Given the description of an element on the screen output the (x, y) to click on. 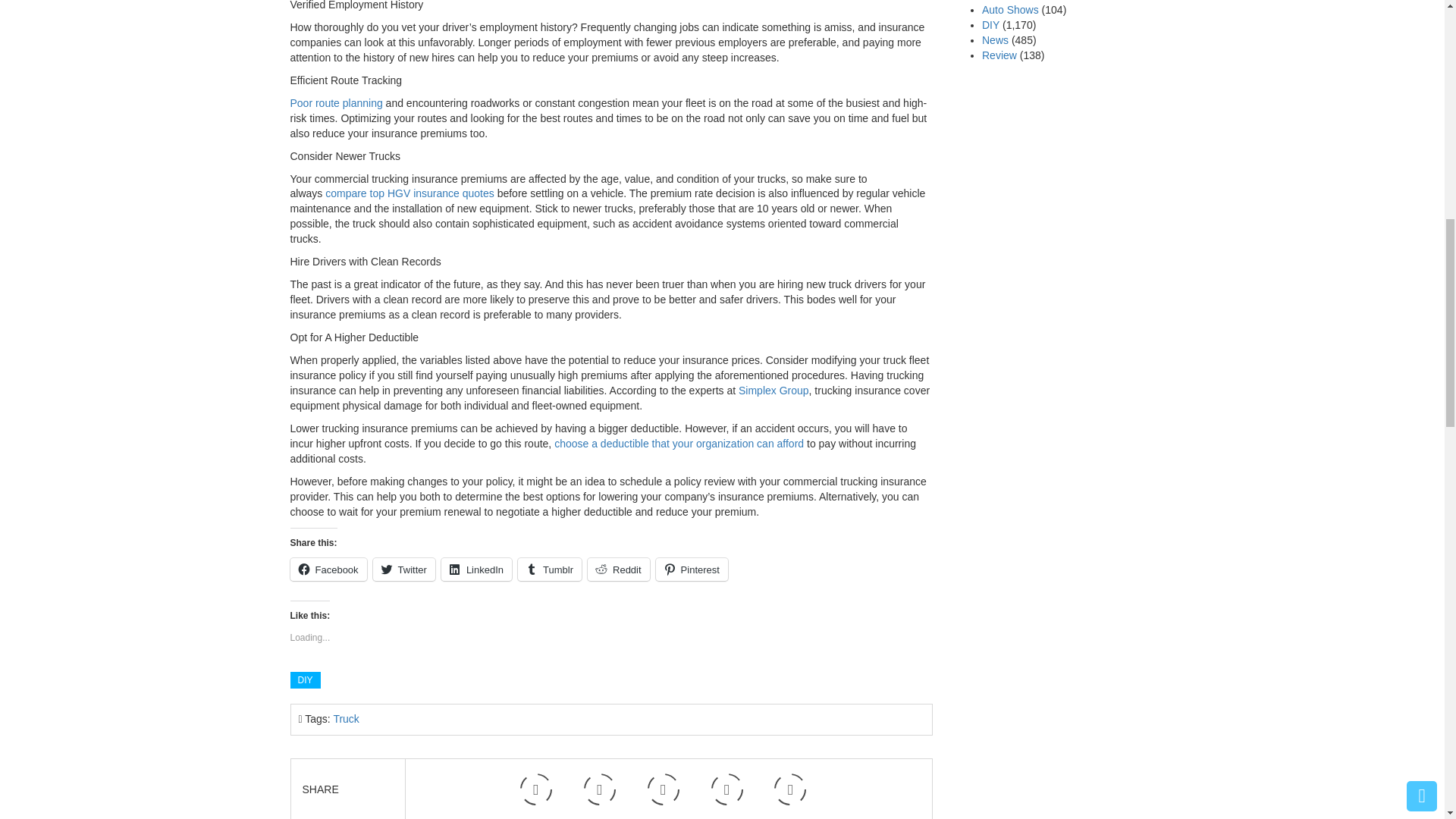
choose a deductible that your organization can afford (680, 443)
Click to share on Tumblr (549, 568)
Tumblr (549, 568)
Click to share on Facebook (327, 568)
Click to share on LinkedIn (476, 568)
Facebook (327, 568)
compare top HGV insurance quotes (409, 193)
View all posts in DIY (305, 679)
Click to share on Twitter (403, 568)
Poor route planning (335, 102)
